Given the description of an element on the screen output the (x, y) to click on. 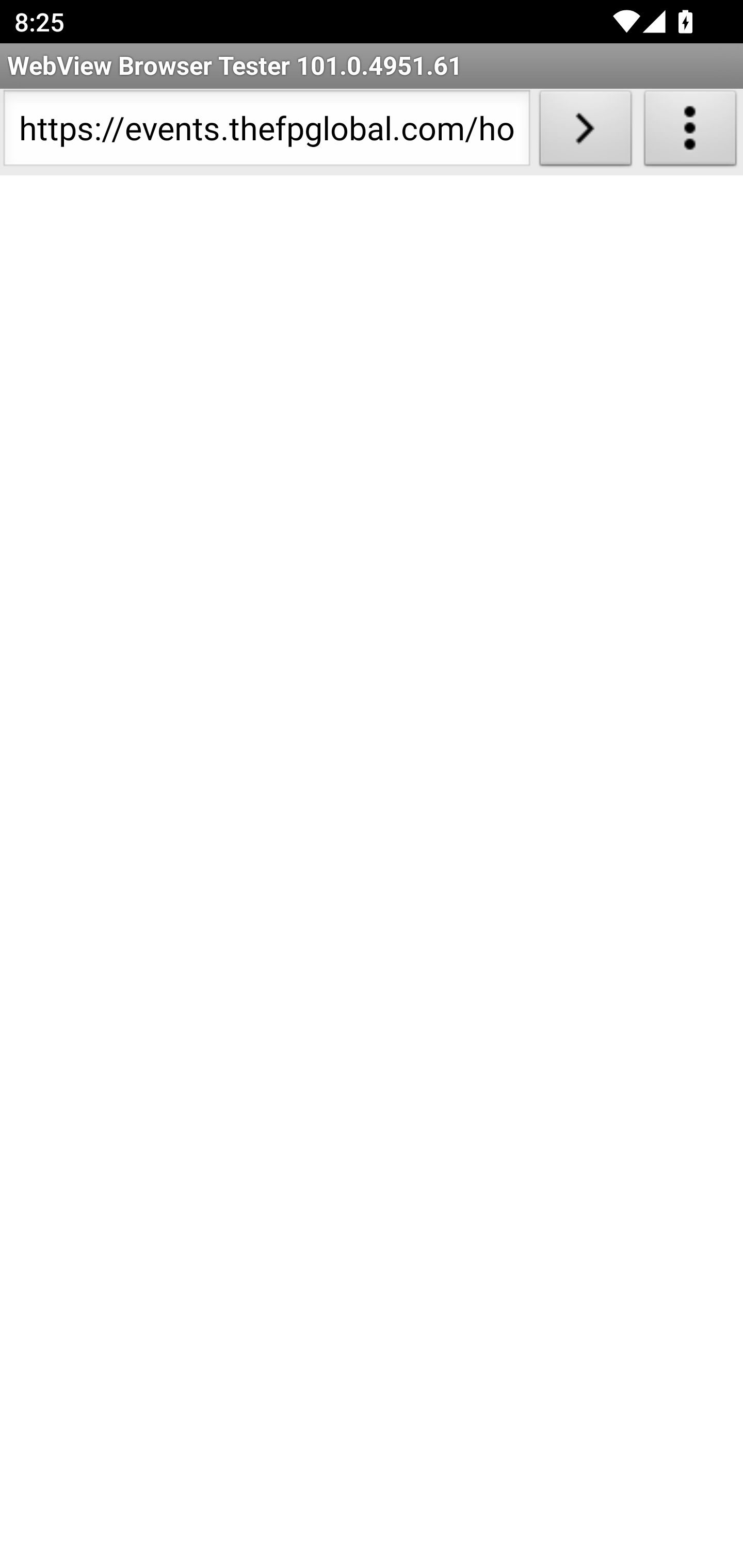
Load URL (585, 132)
About WebView (690, 132)
